Given the description of an element on the screen output the (x, y) to click on. 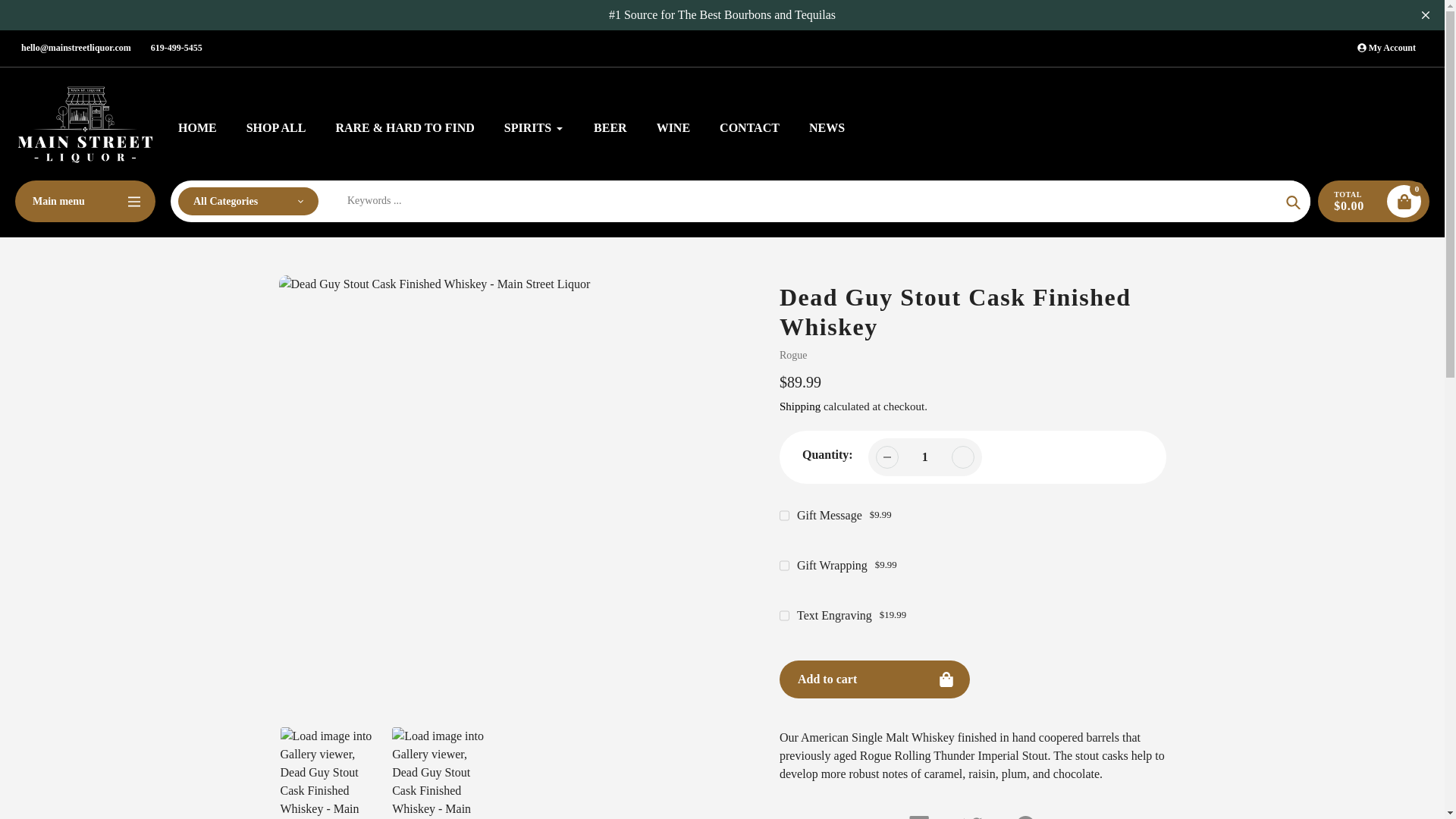
619-499-5455 (176, 48)
HOME (196, 127)
CONTACT (748, 127)
SPIRITS (533, 127)
1 (925, 456)
SHOP ALL (275, 127)
WINE (673, 127)
My Account (1386, 48)
Main menu (84, 200)
BEER (610, 127)
